Given the description of an element on the screen output the (x, y) to click on. 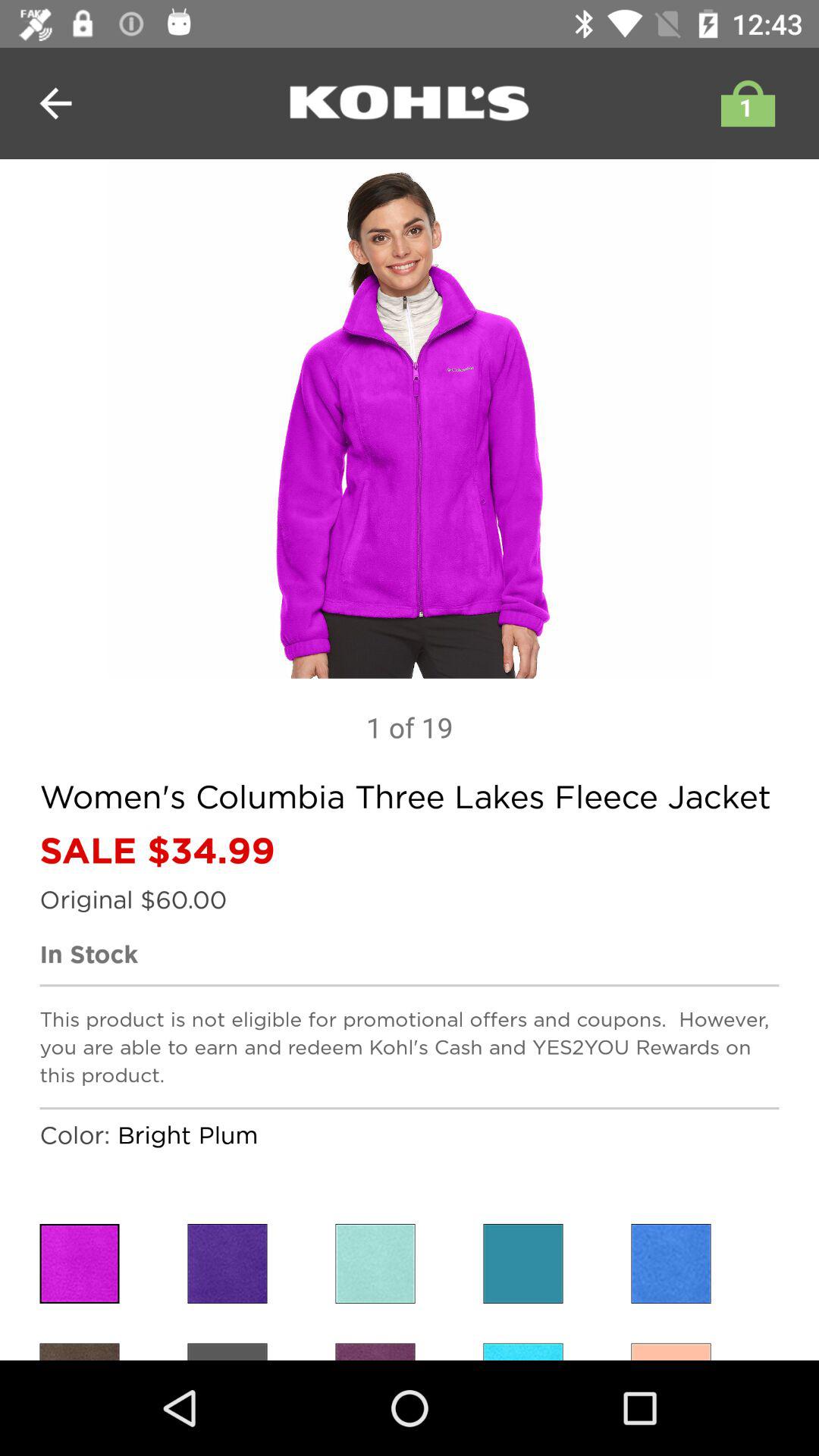
choose color selection (670, 1263)
